Given the description of an element on the screen output the (x, y) to click on. 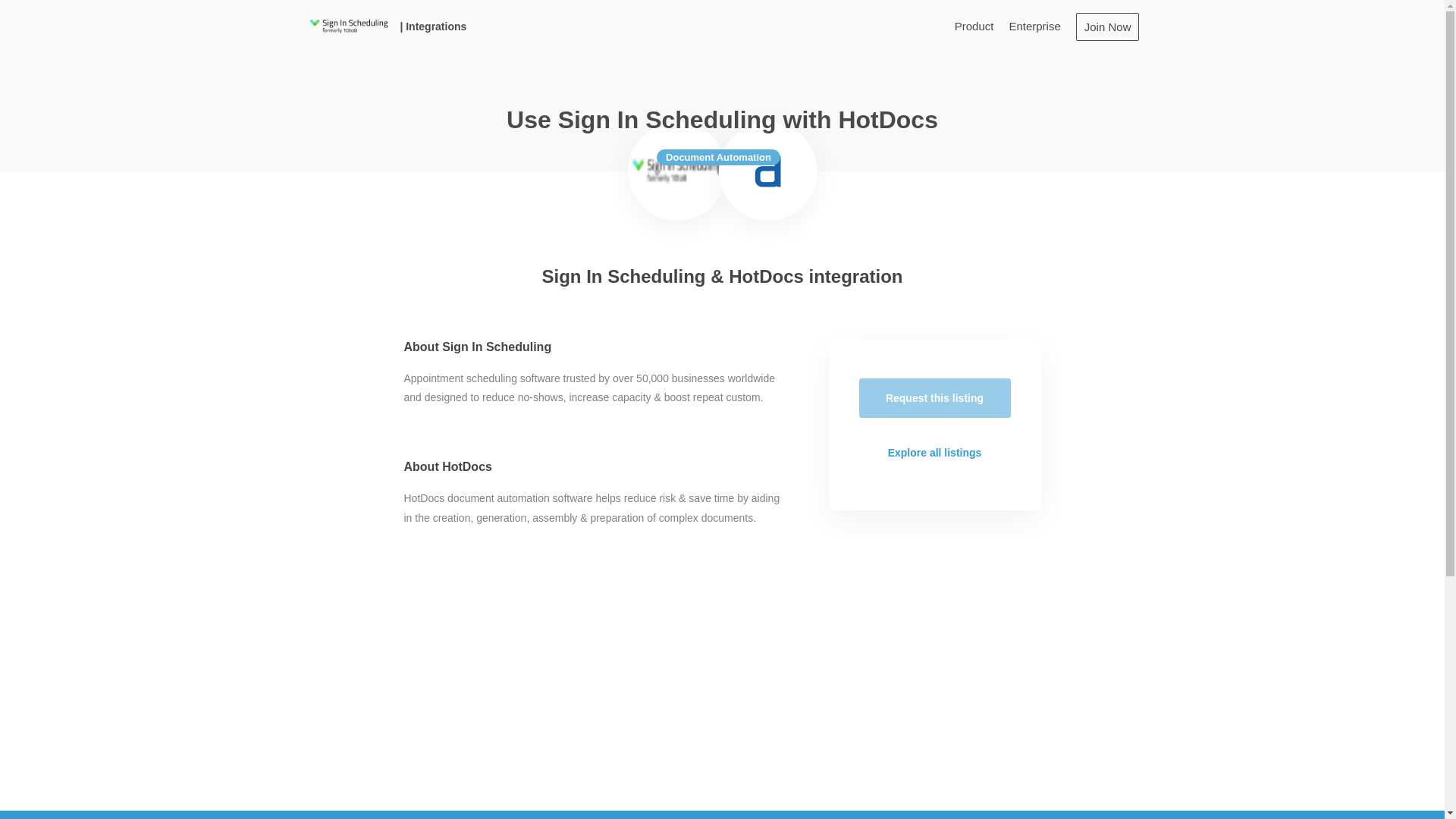
Explore all listings (934, 452)
Request this listing (934, 397)
Join Now (1107, 26)
Enterprise (1034, 25)
Product (974, 25)
Sign In Scheduling (347, 26)
Sign In Scheduling (676, 171)
HotDocs (768, 171)
